Given the description of an element on the screen output the (x, y) to click on. 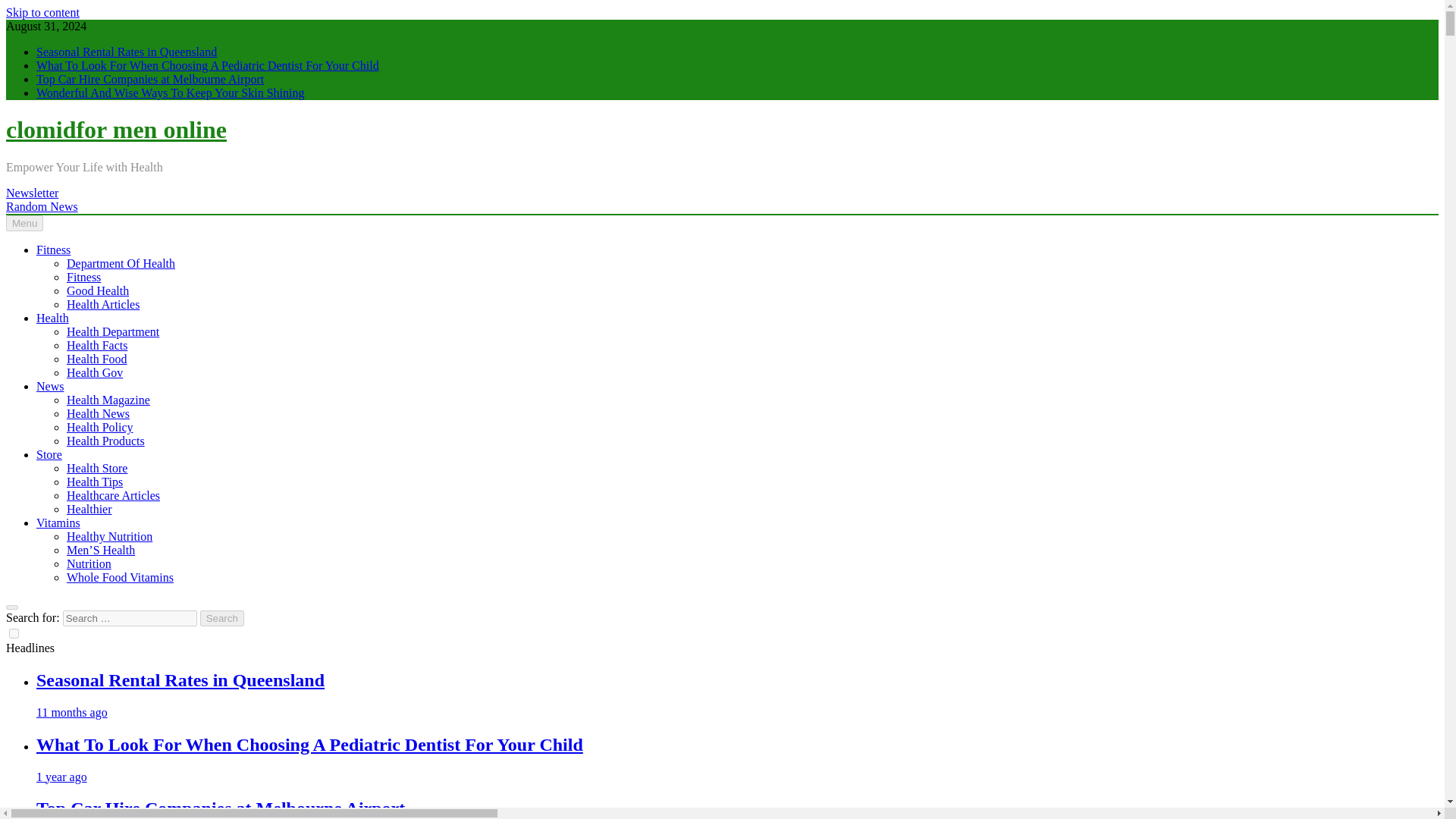
Health Gov (94, 372)
Fitness (52, 249)
Vitamins (58, 522)
Seasonal Rental Rates in Queensland (126, 51)
Skip to content (42, 11)
Menu (24, 222)
Random News (41, 205)
Department Of Health (120, 263)
Health Policy (99, 427)
